Given the description of an element on the screen output the (x, y) to click on. 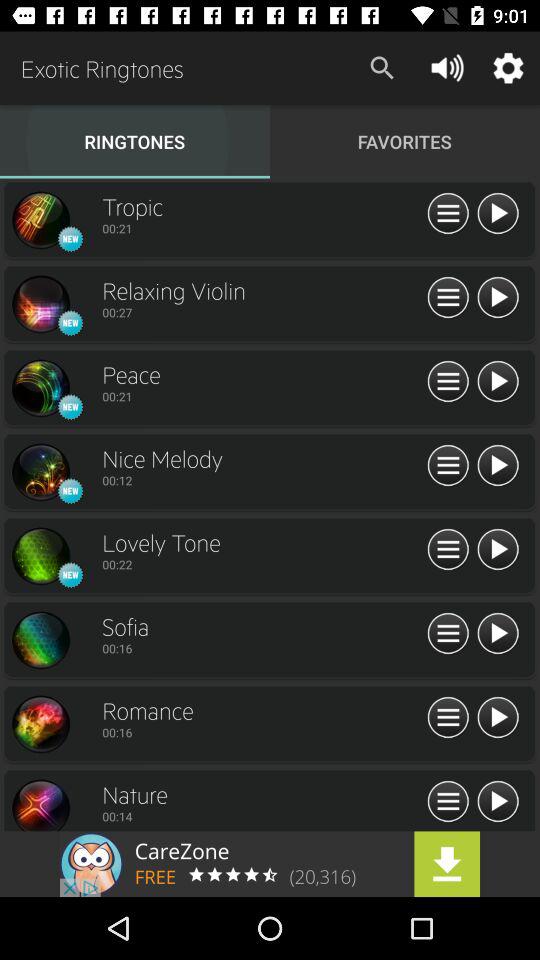
open menu (447, 801)
